Given the description of an element on the screen output the (x, y) to click on. 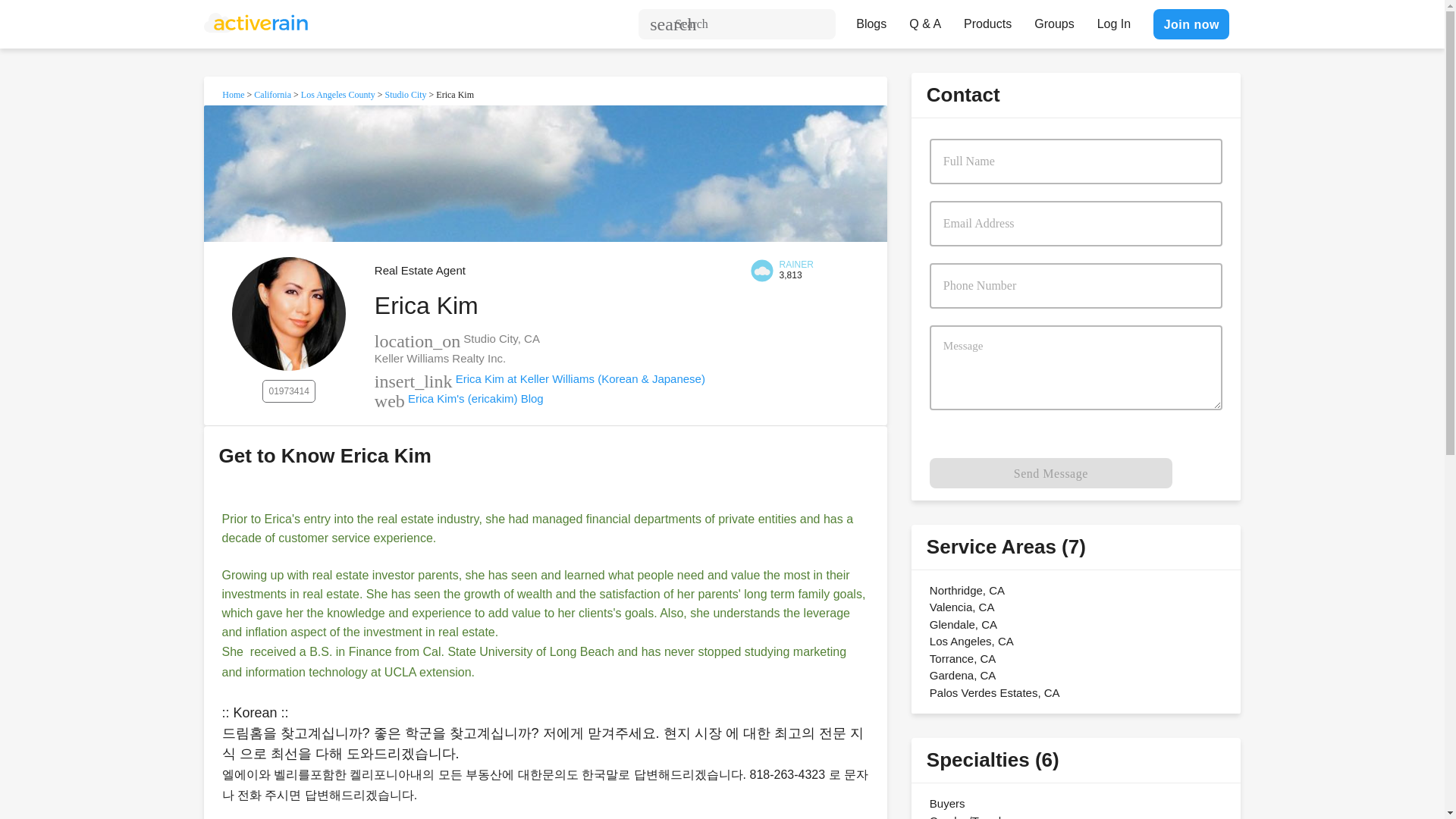
Join now (1190, 24)
Los Angeles County (338, 94)
California (272, 94)
Log In (1113, 19)
Groups (1053, 19)
Send Message (1051, 472)
Blogs (870, 19)
Products (986, 19)
Send Message (1051, 472)
Studio City (405, 94)
Home (233, 94)
